Given the description of an element on the screen output the (x, y) to click on. 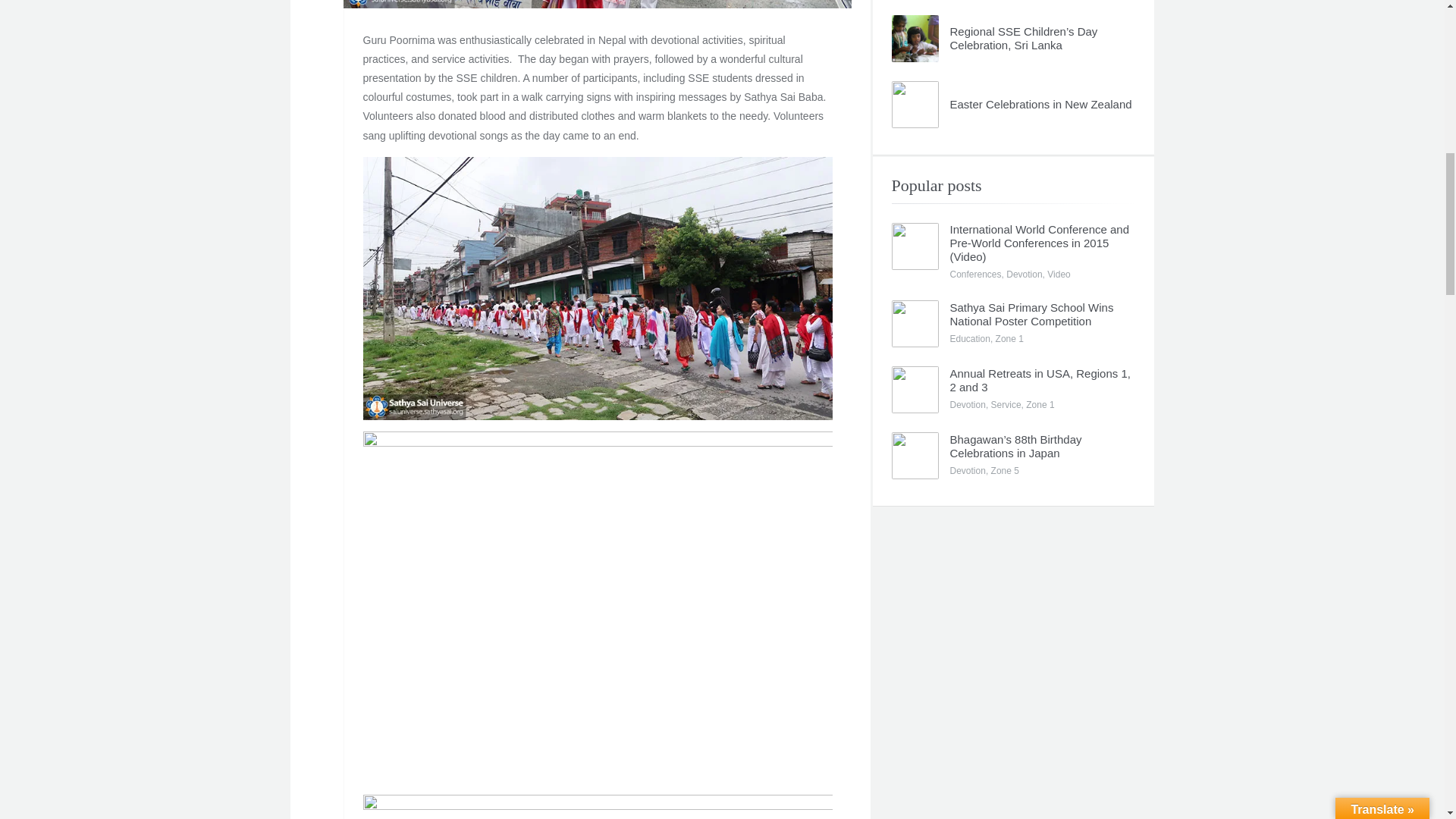
Guru Poornima Celebrations in Nepal (596, 4)
